Given the description of an element on the screen output the (x, y) to click on. 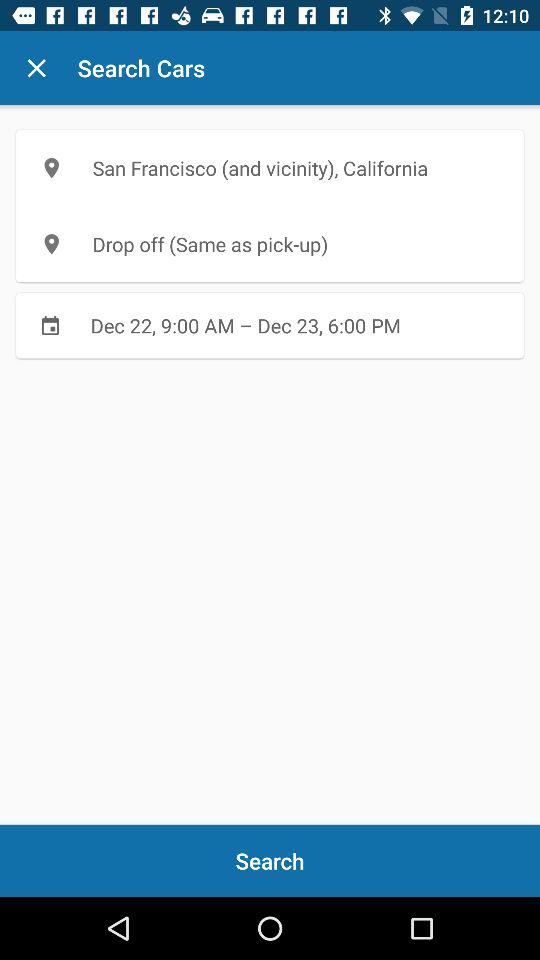
tap icon above the drop off same (269, 168)
